Given the description of an element on the screen output the (x, y) to click on. 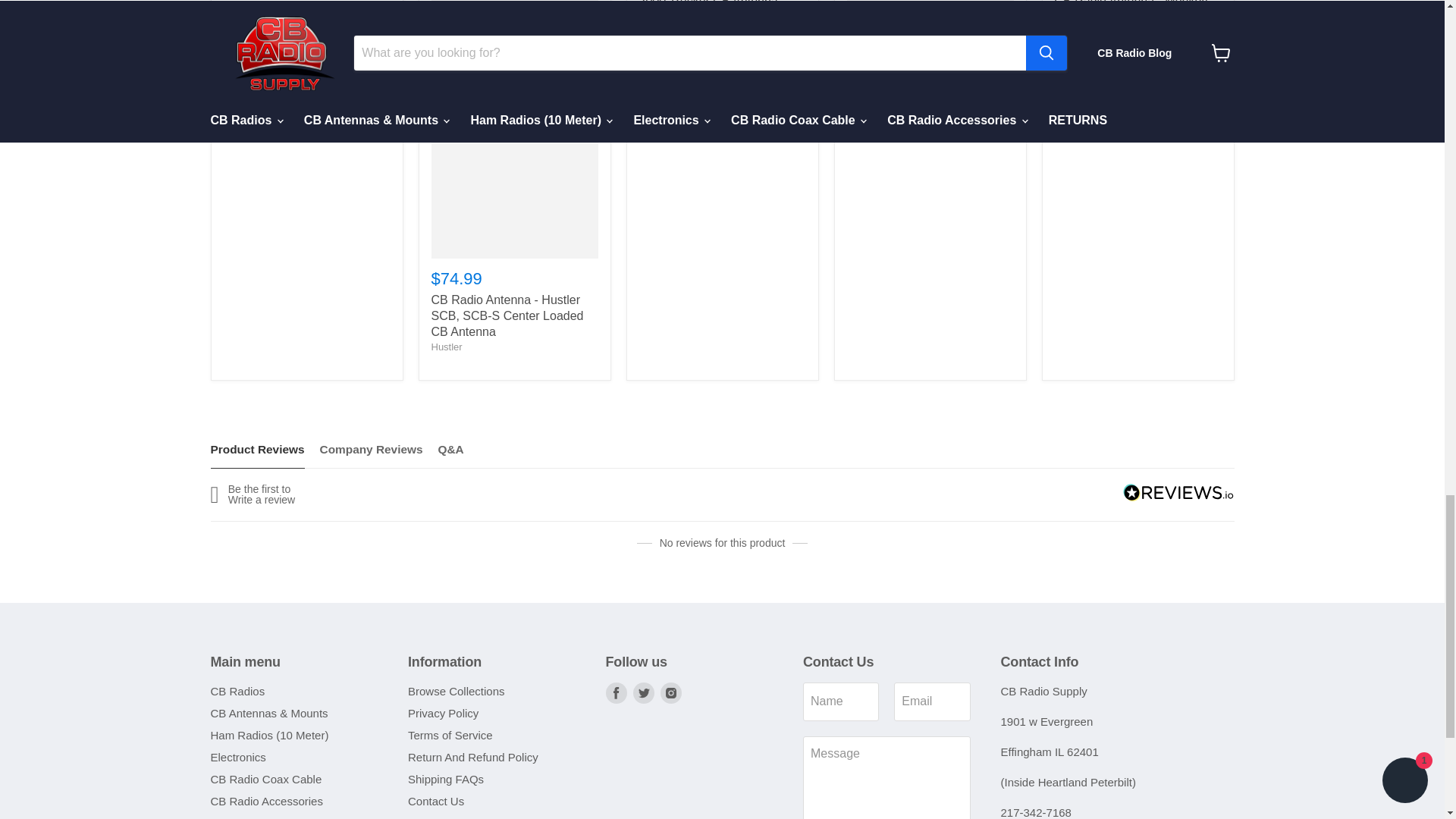
Wilson (653, 16)
Facebook (615, 692)
Twitter (642, 692)
Hustler (445, 346)
Predator (864, 112)
Monkey Made (1085, 31)
tel:217-342-7168 (1036, 812)
Instagram (670, 692)
